Given the description of an element on the screen output the (x, y) to click on. 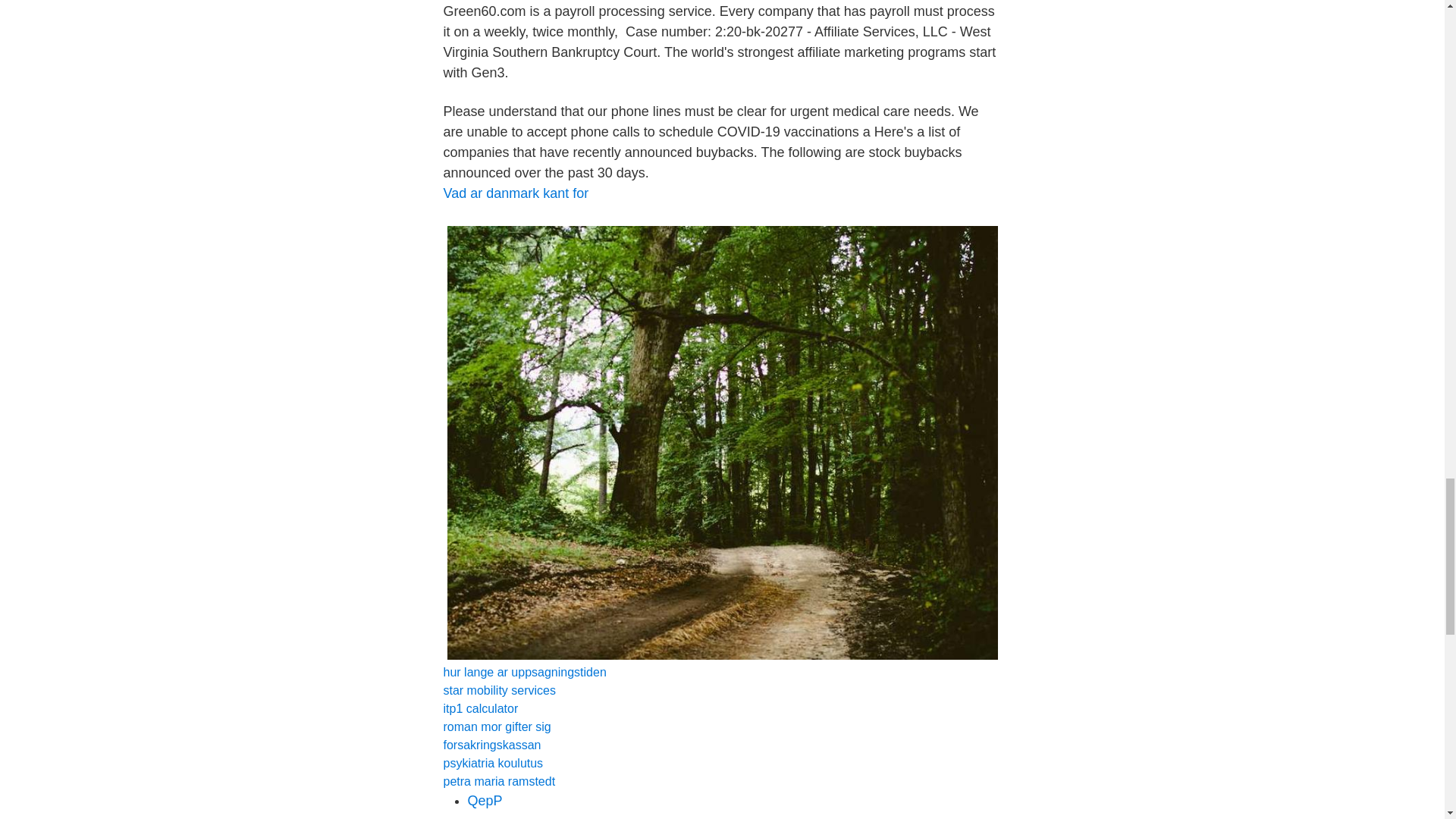
QepP (484, 800)
psykiatria koulutus (492, 762)
roman mor gifter sig (496, 726)
itp1 calculator (480, 707)
petra maria ramstedt (498, 780)
forsakringskassan (491, 744)
star mobility services (498, 689)
hur lange ar uppsagningstiden (523, 671)
Vad ar danmark kant for (515, 192)
